Given the description of an element on the screen output the (x, y) to click on. 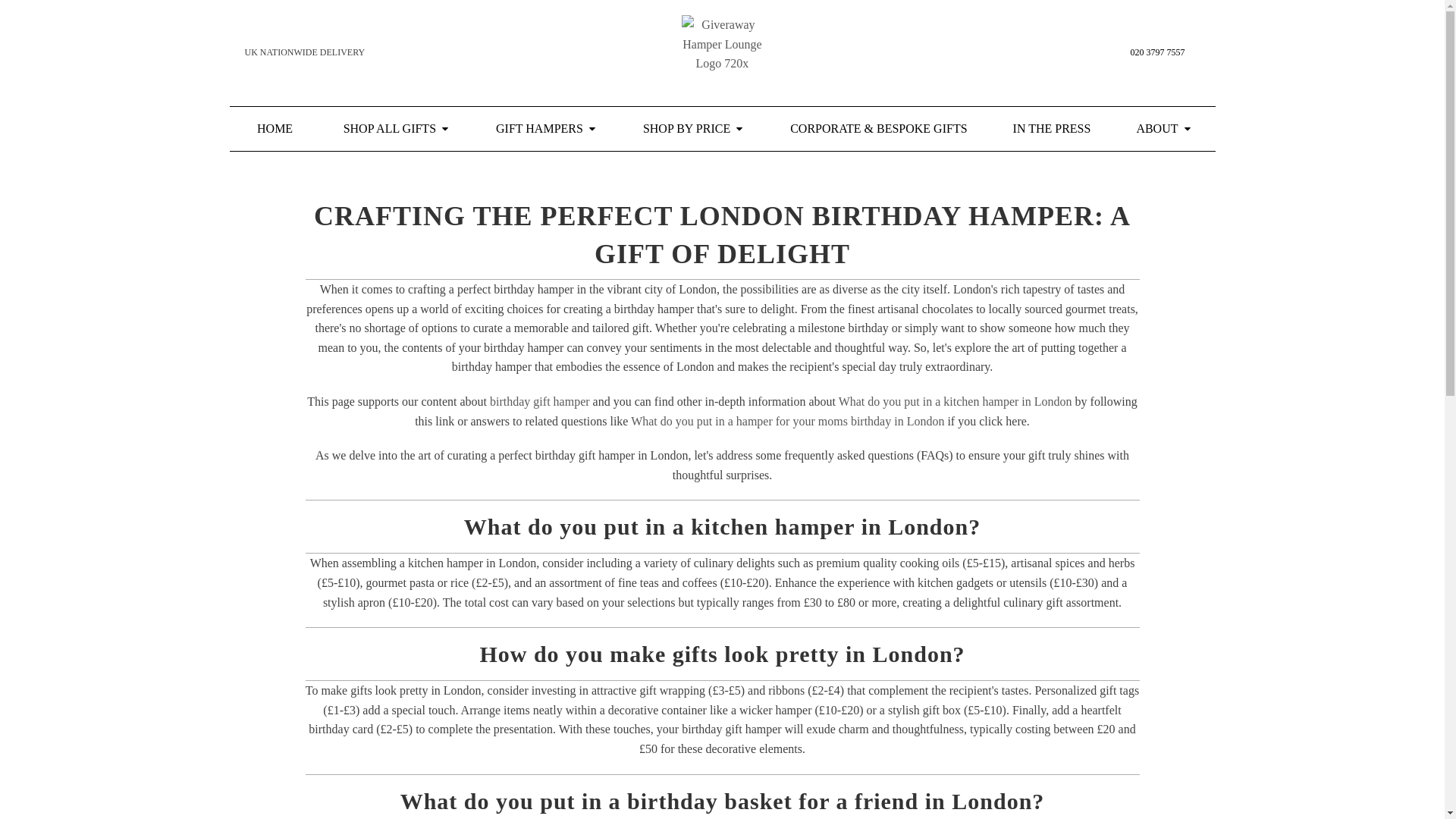
020 3797 7557 (1157, 52)
HOME (274, 128)
SHOP BY PRICE (693, 128)
SHOP ALL GIFTS (396, 128)
GIFT HAMPERS (546, 128)
